Given the description of an element on the screen output the (x, y) to click on. 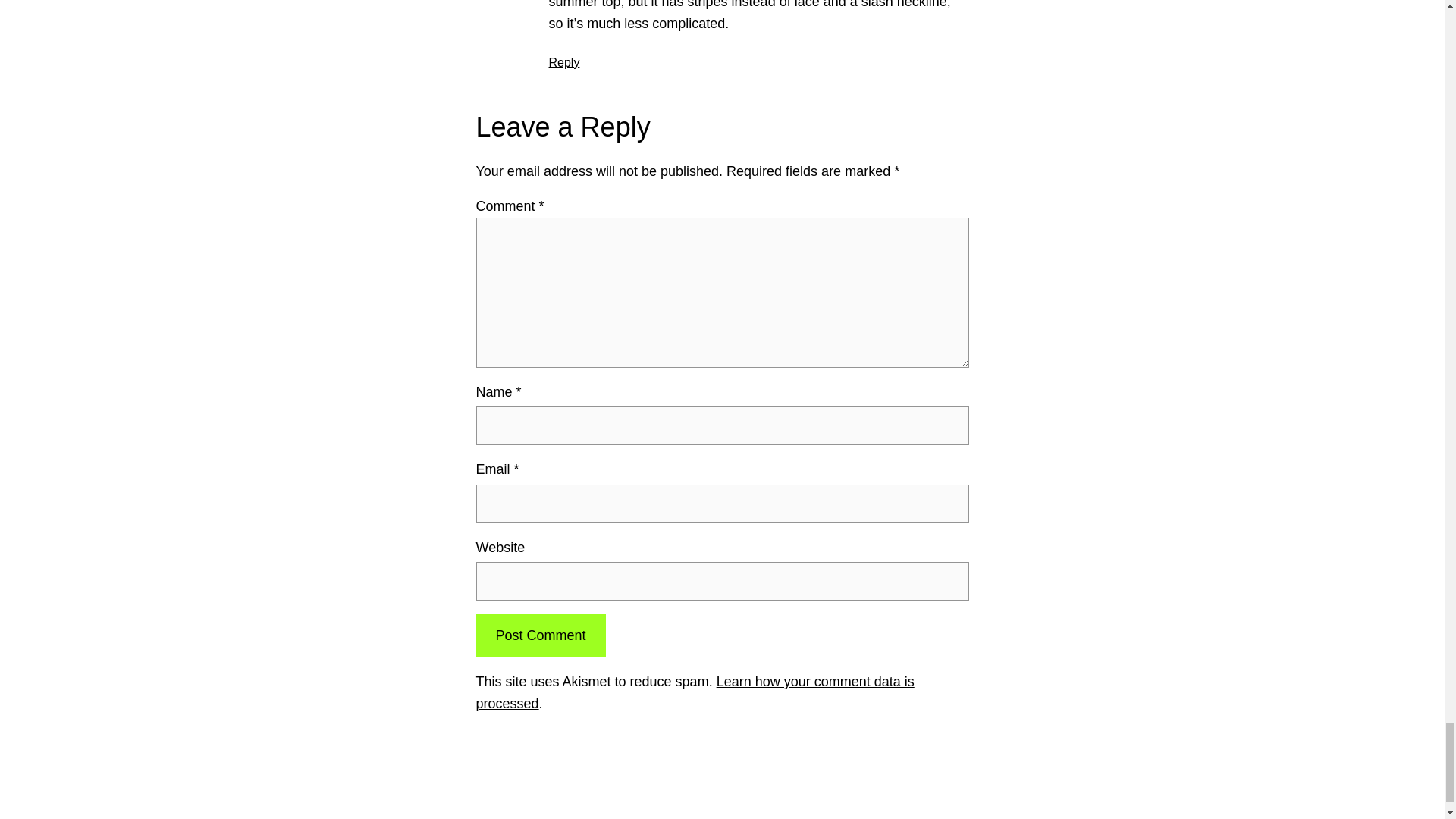
Post Comment (540, 635)
